Given the description of an element on the screen output the (x, y) to click on. 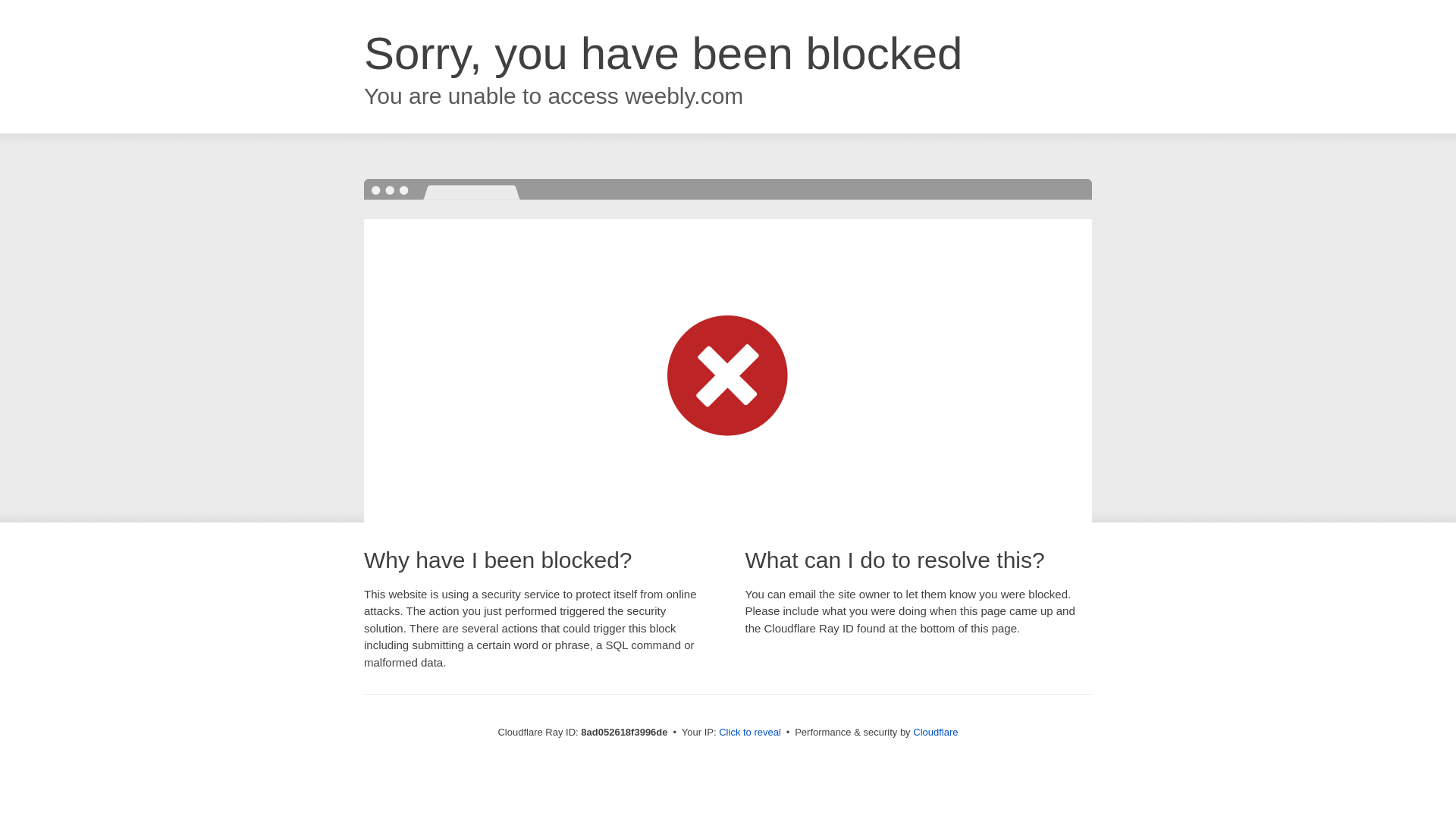
Click to reveal (749, 732)
Cloudflare (935, 731)
